Given the description of an element on the screen output the (x, y) to click on. 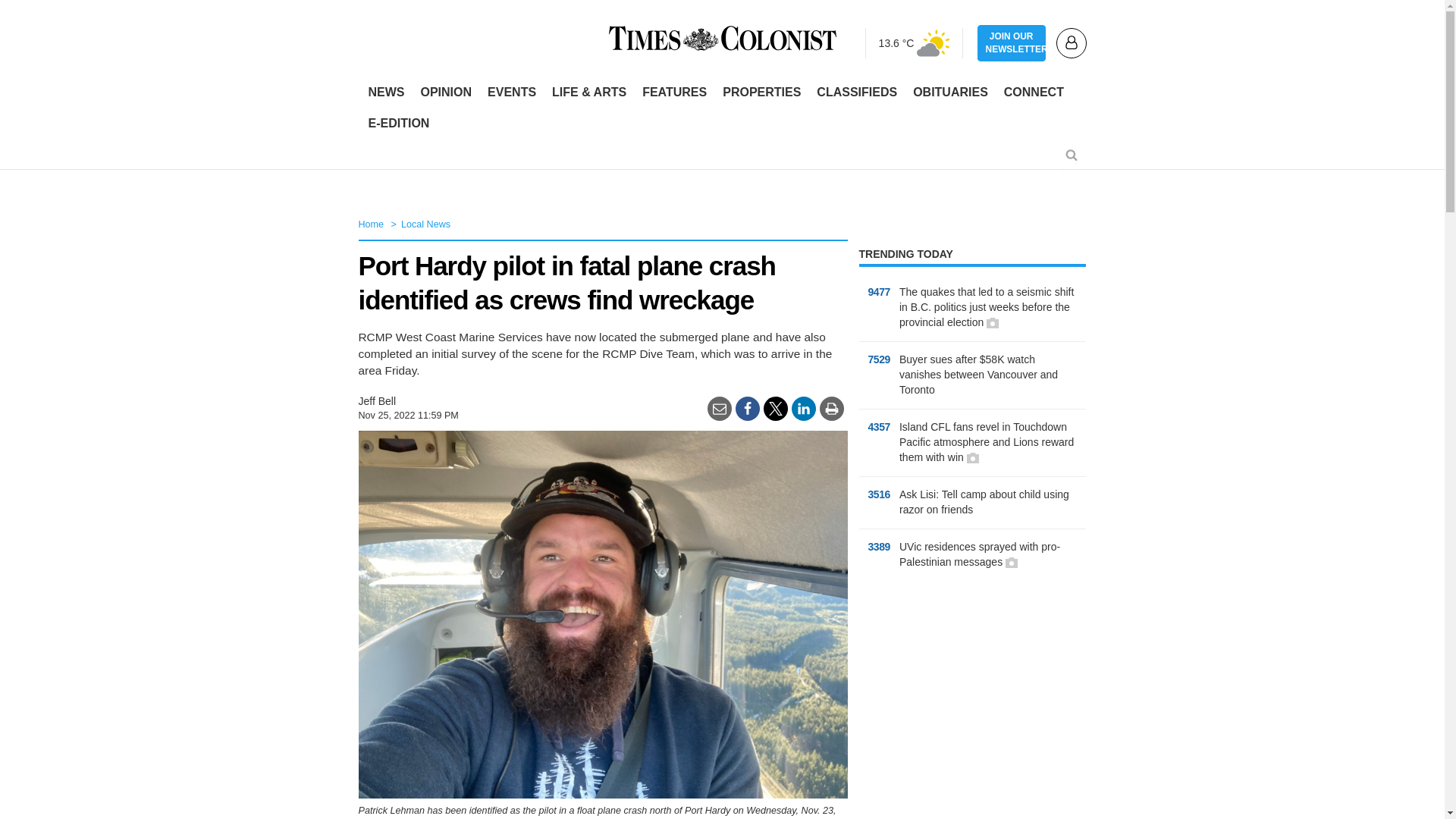
EVENTS (511, 92)
Has a gallery (972, 458)
NEWS (386, 92)
Has a gallery (992, 322)
JOIN OUR NEWSLETTER (1010, 43)
Has a gallery (1011, 562)
OPINION (445, 92)
